Given the description of an element on the screen output the (x, y) to click on. 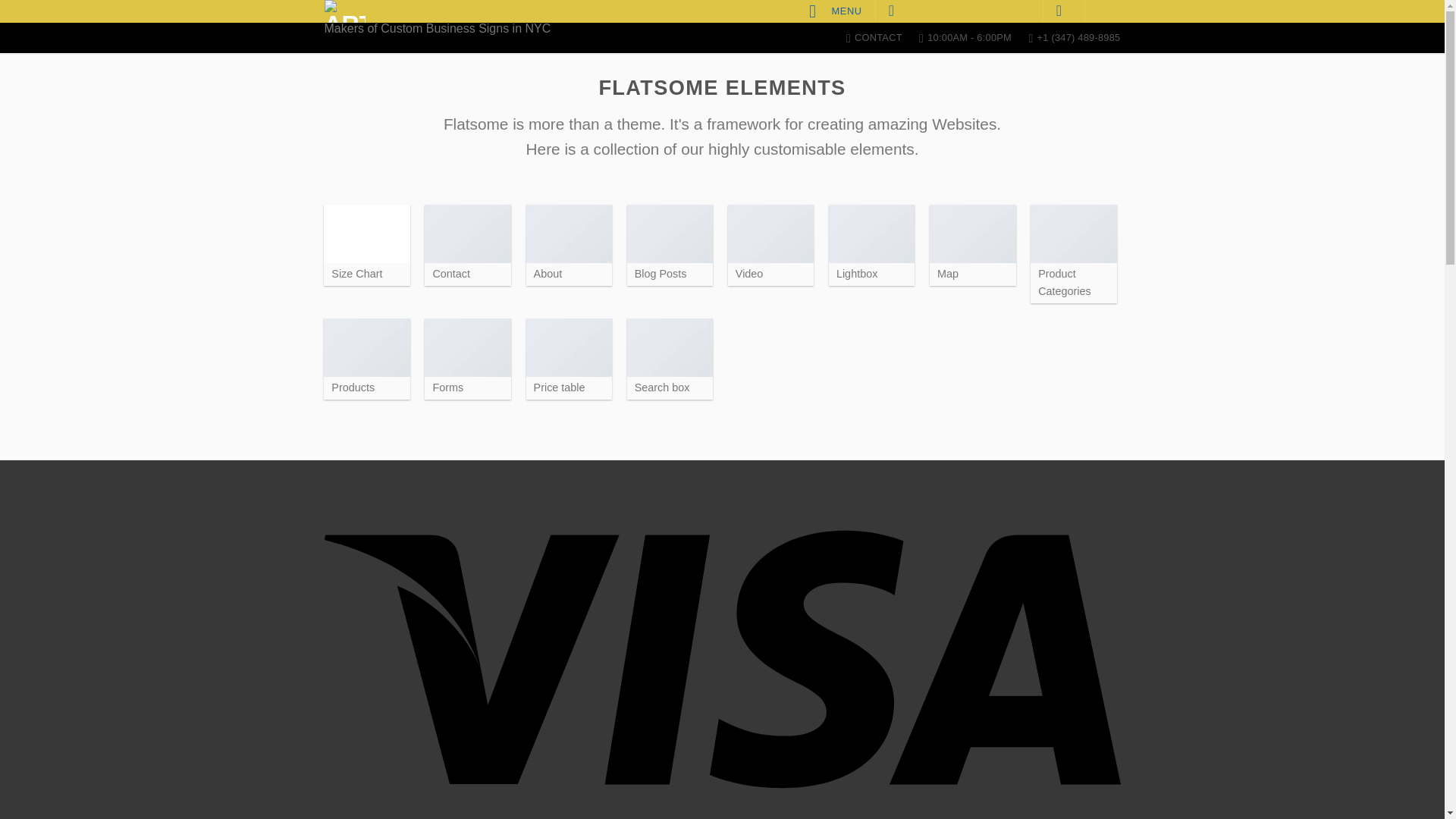
Blog Posts (670, 244)
Contact (468, 244)
Video (770, 244)
CONTACT (873, 37)
About (568, 244)
MENU (835, 11)
Map (973, 244)
10:00AM - 6:00PM (964, 37)
Blog Posts (670, 244)
Size Chart (366, 244)
